Given the description of an element on the screen output the (x, y) to click on. 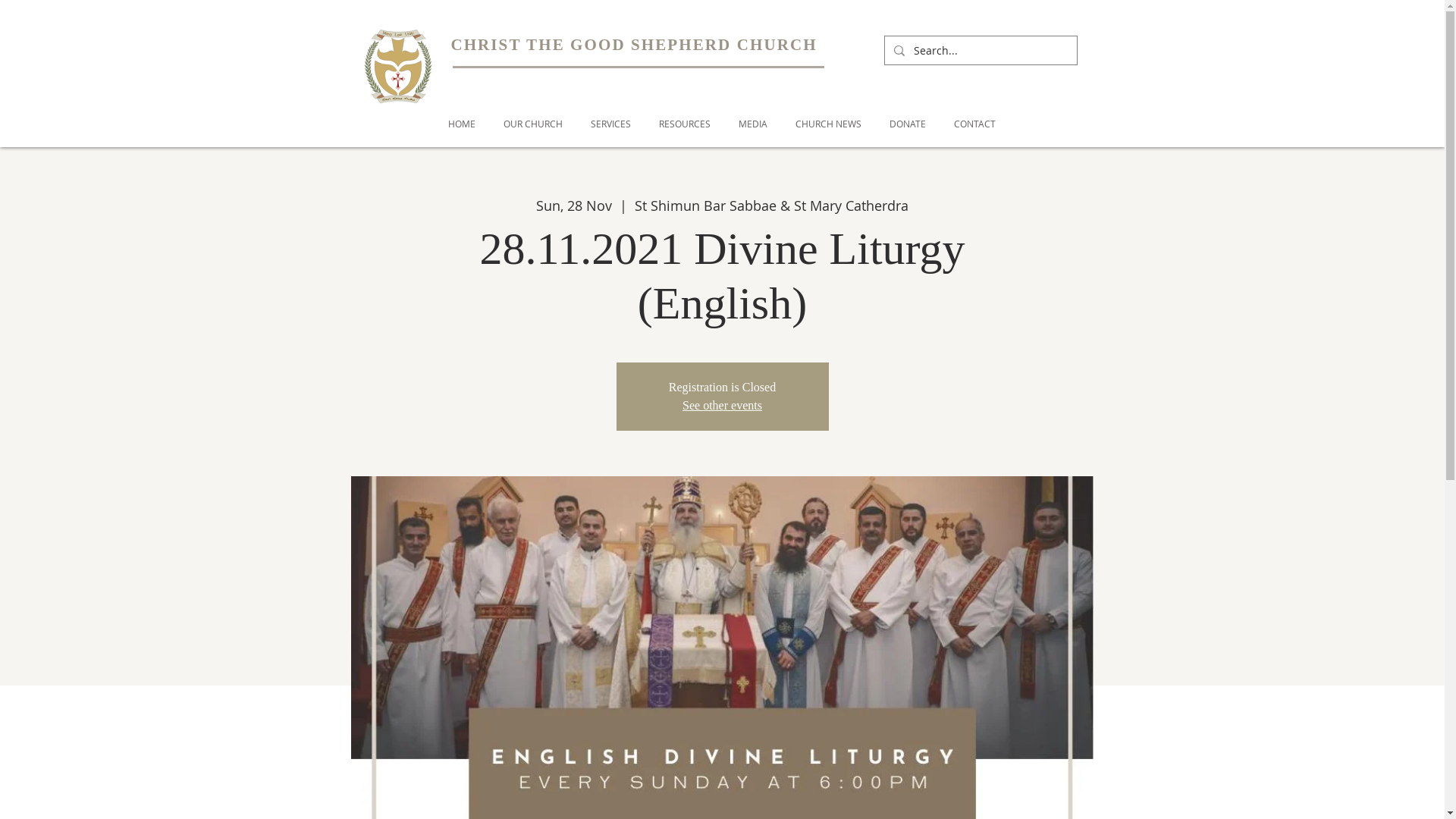
HOME Element type: text (461, 123)
DONATE Element type: text (907, 123)
OUR CHURCH Element type: text (533, 123)
M
e
r
c
y
L
o
v
e
U
n
i
t
y Element type: text (396, 60)
MEDIA Element type: text (752, 123)
CONTACT Element type: text (975, 123)
SERVICES Element type: text (610, 123)
CHURCH NEWS Element type: text (828, 123)
See other events Element type: text (722, 404)
